Given the description of an element on the screen output the (x, y) to click on. 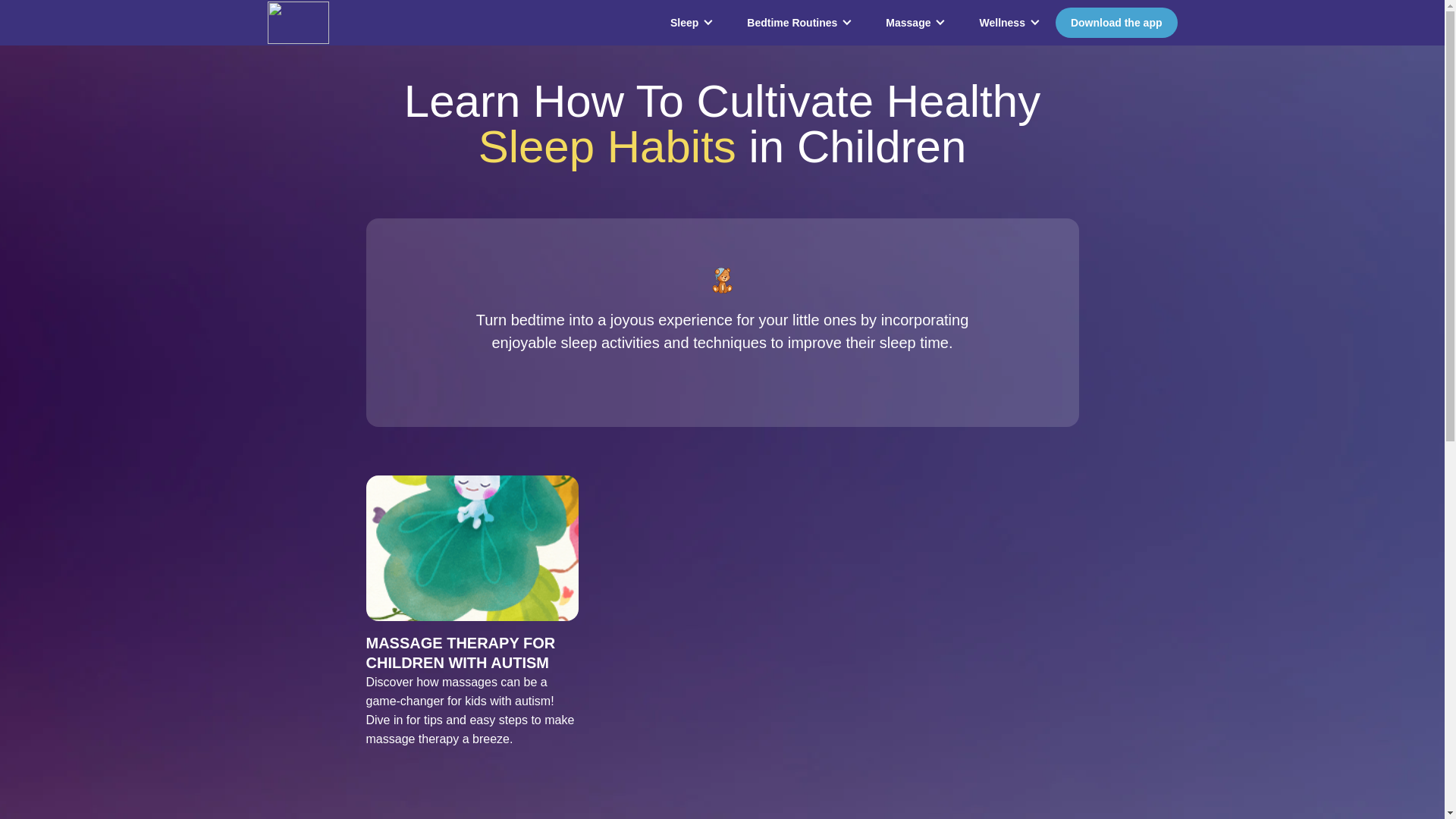
Bedtime Routines (791, 22)
Download the app (1116, 22)
Massage (907, 22)
Sleep (683, 22)
Wellness (1002, 22)
